Given the description of an element on the screen output the (x, y) to click on. 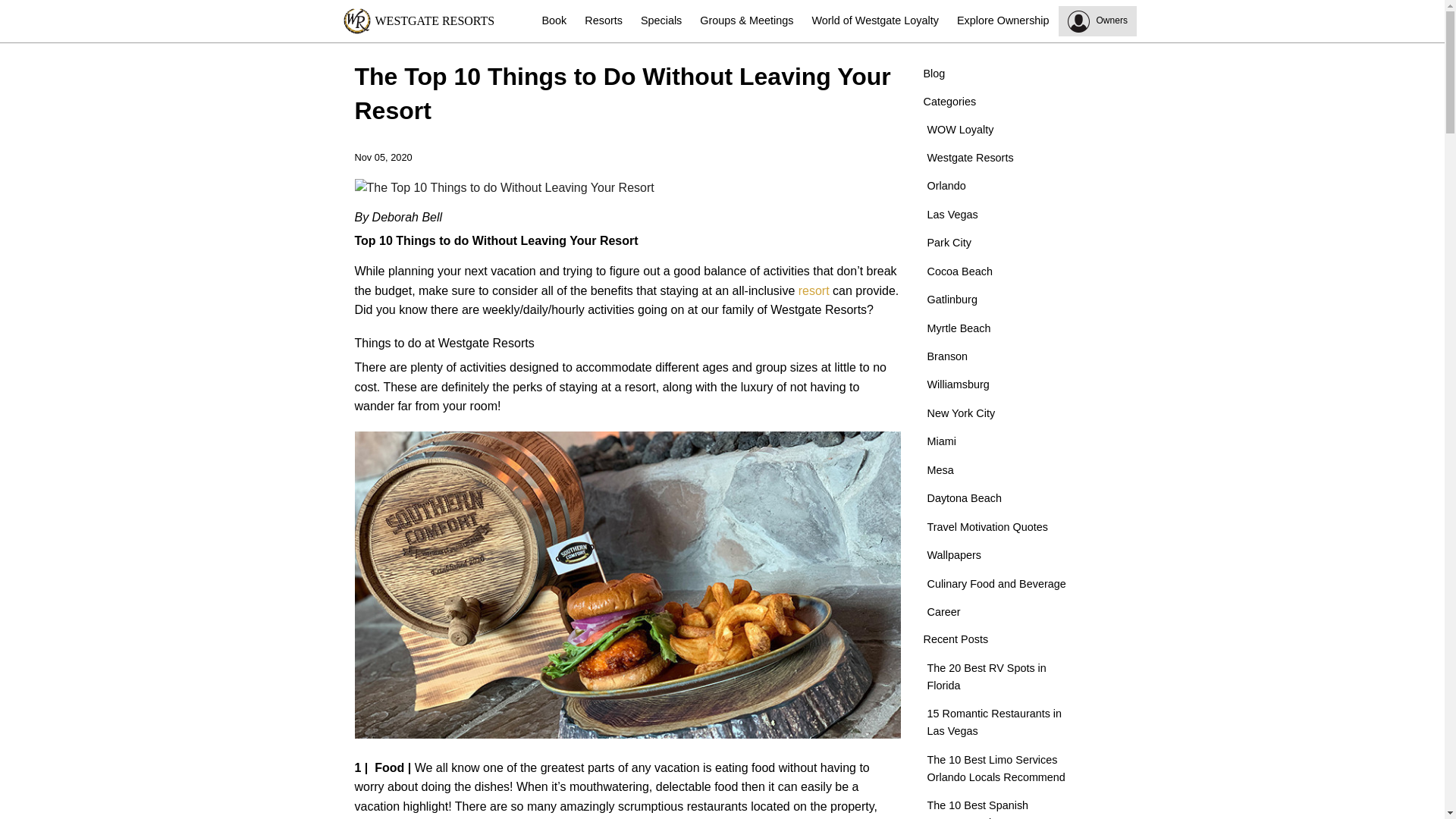
Book (553, 21)
Resorts (603, 21)
WESTGATE RESORTS (437, 21)
